Given the description of an element on the screen output the (x, y) to click on. 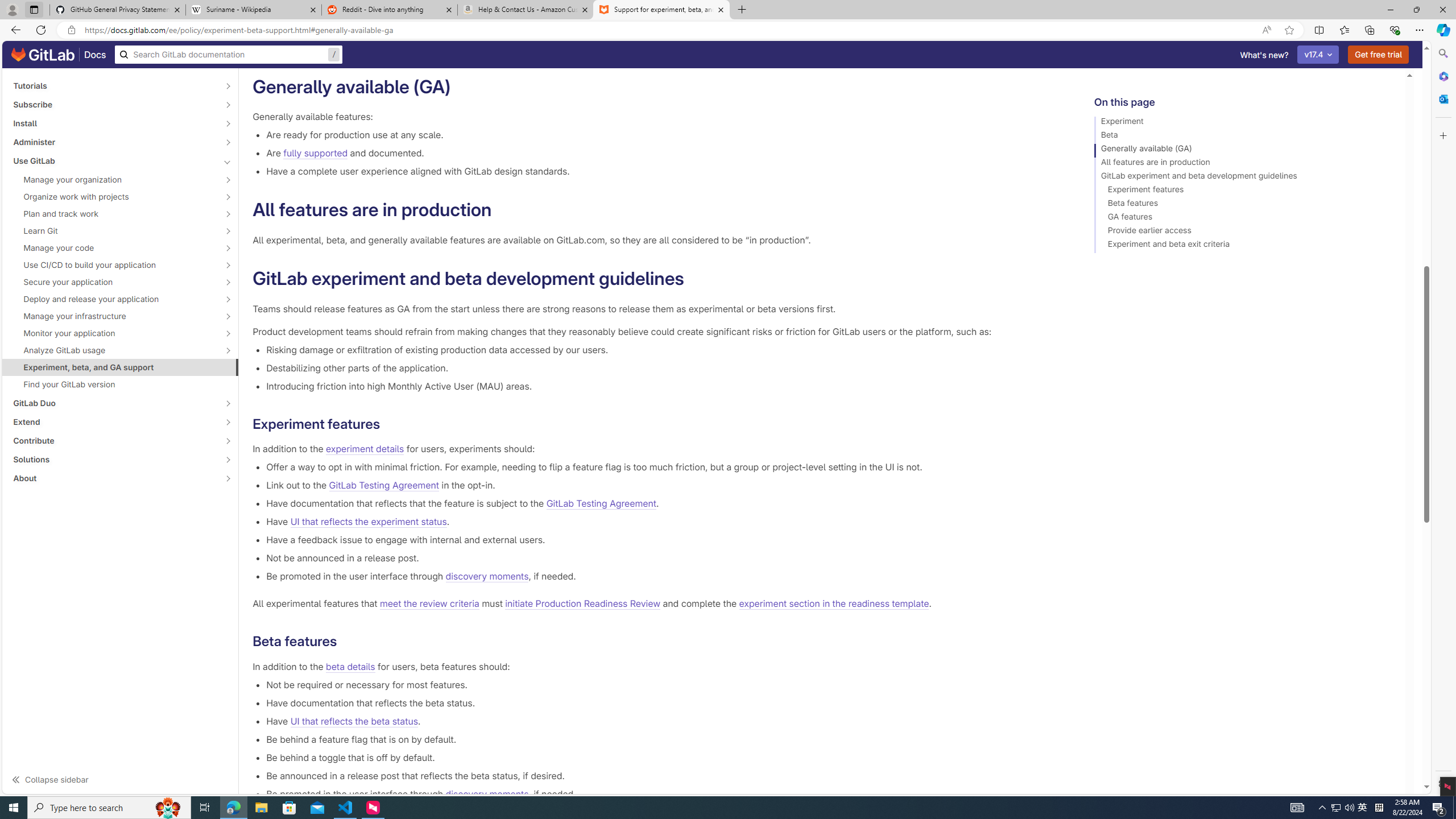
Find your GitLab version (120, 384)
GitLab documentation home (42, 54)
Experiment (1244, 123)
Learn Git (113, 230)
Beta (1244, 136)
beta details (350, 666)
GitLab experiment and beta development guidelines (1244, 177)
Provide earlier access (1244, 232)
Are fully supported and documented. (662, 152)
Permalink (346, 641)
Install (113, 122)
GitHub General Privacy Statement - GitHub Docs (117, 9)
